Given the description of an element on the screen output the (x, y) to click on. 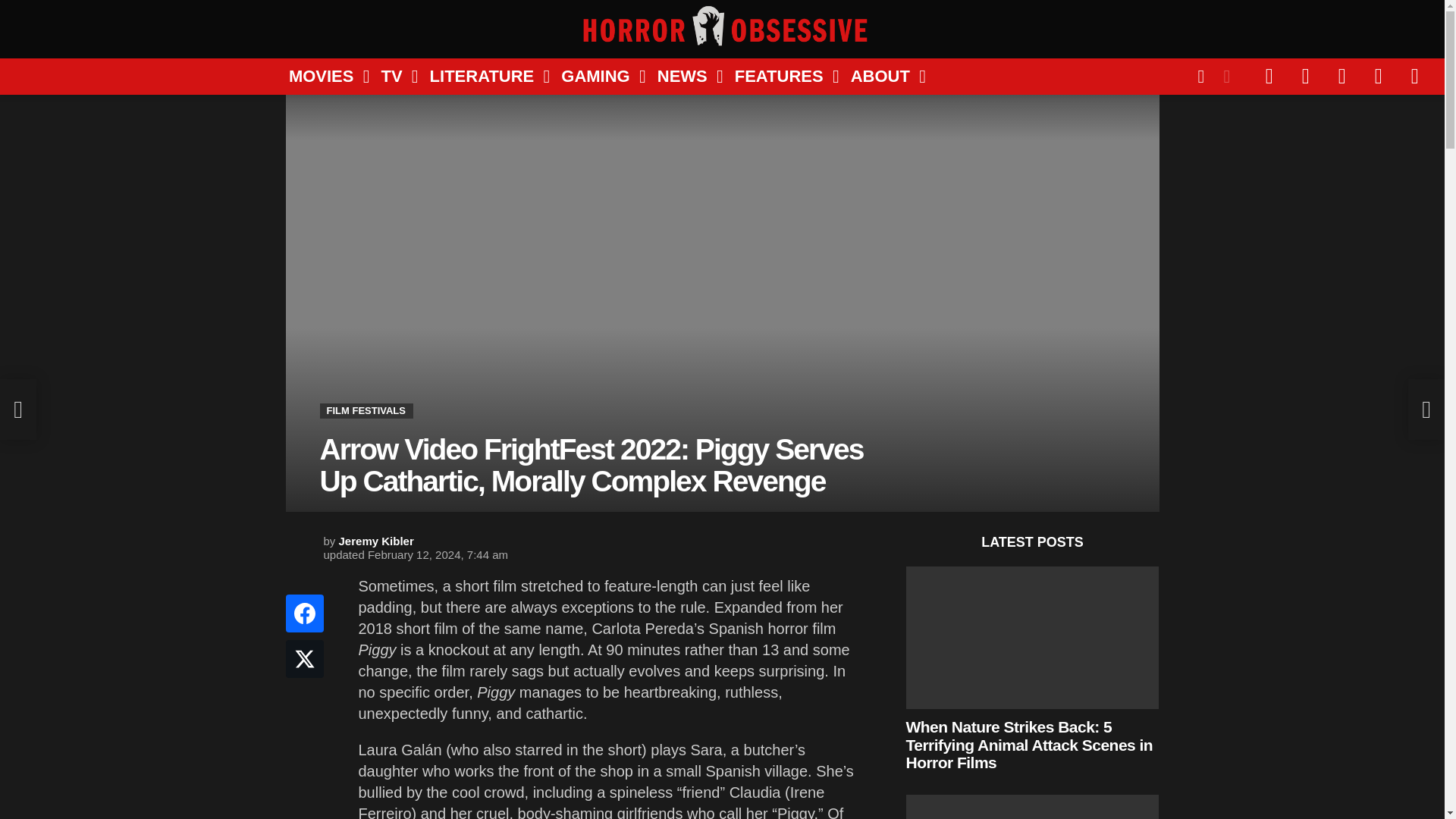
Posts by Jeremy Kibler (376, 540)
Share on Facebook (304, 613)
TV (392, 76)
MOVIES (323, 76)
Lovecraftian Horror Perfected: The Subtle Genius of The Void (1031, 806)
Share on Twitter (304, 658)
